Given the description of an element on the screen output the (x, y) to click on. 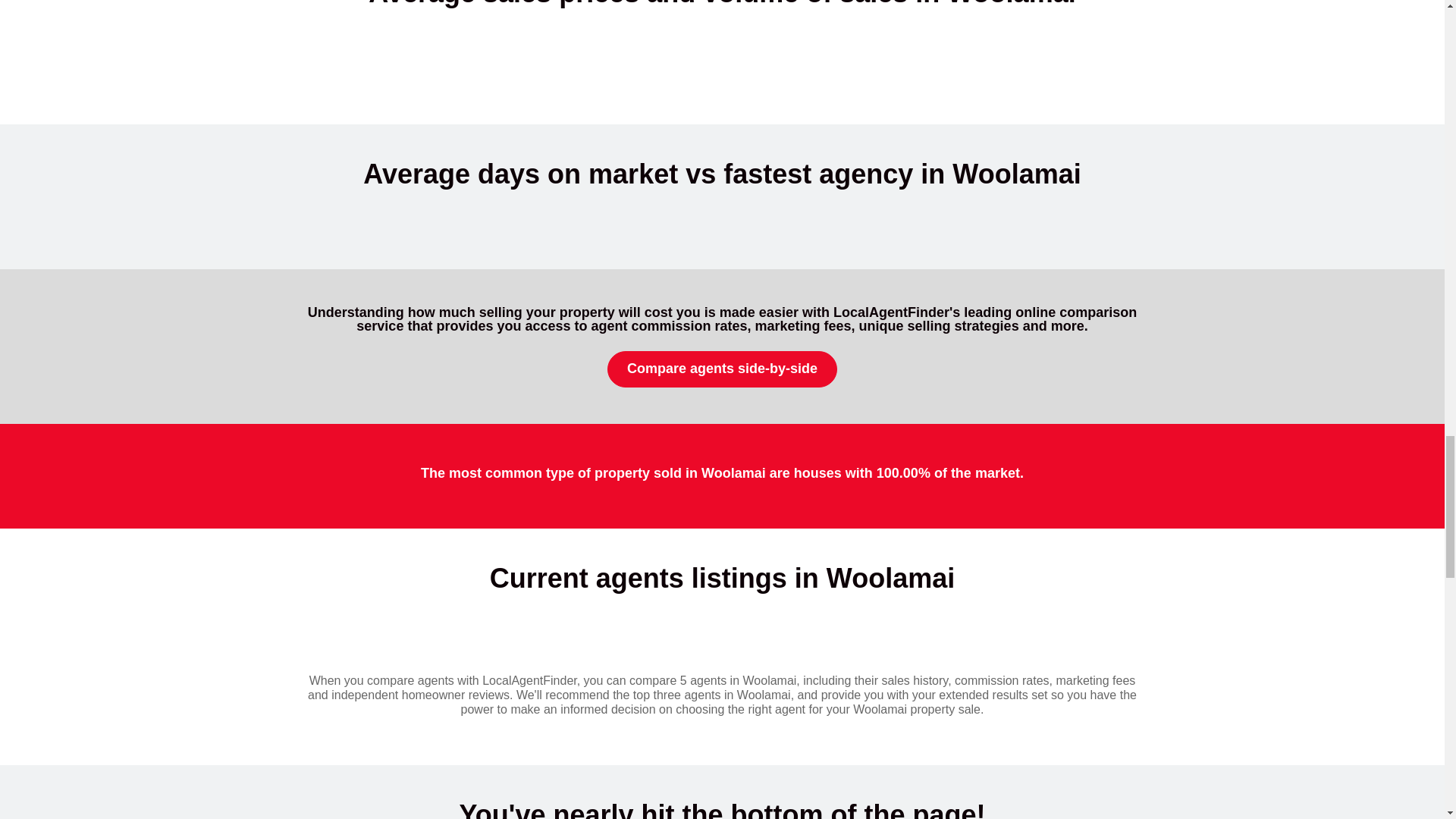
Compare agents side-by-side (722, 369)
